Given the description of an element on the screen output the (x, y) to click on. 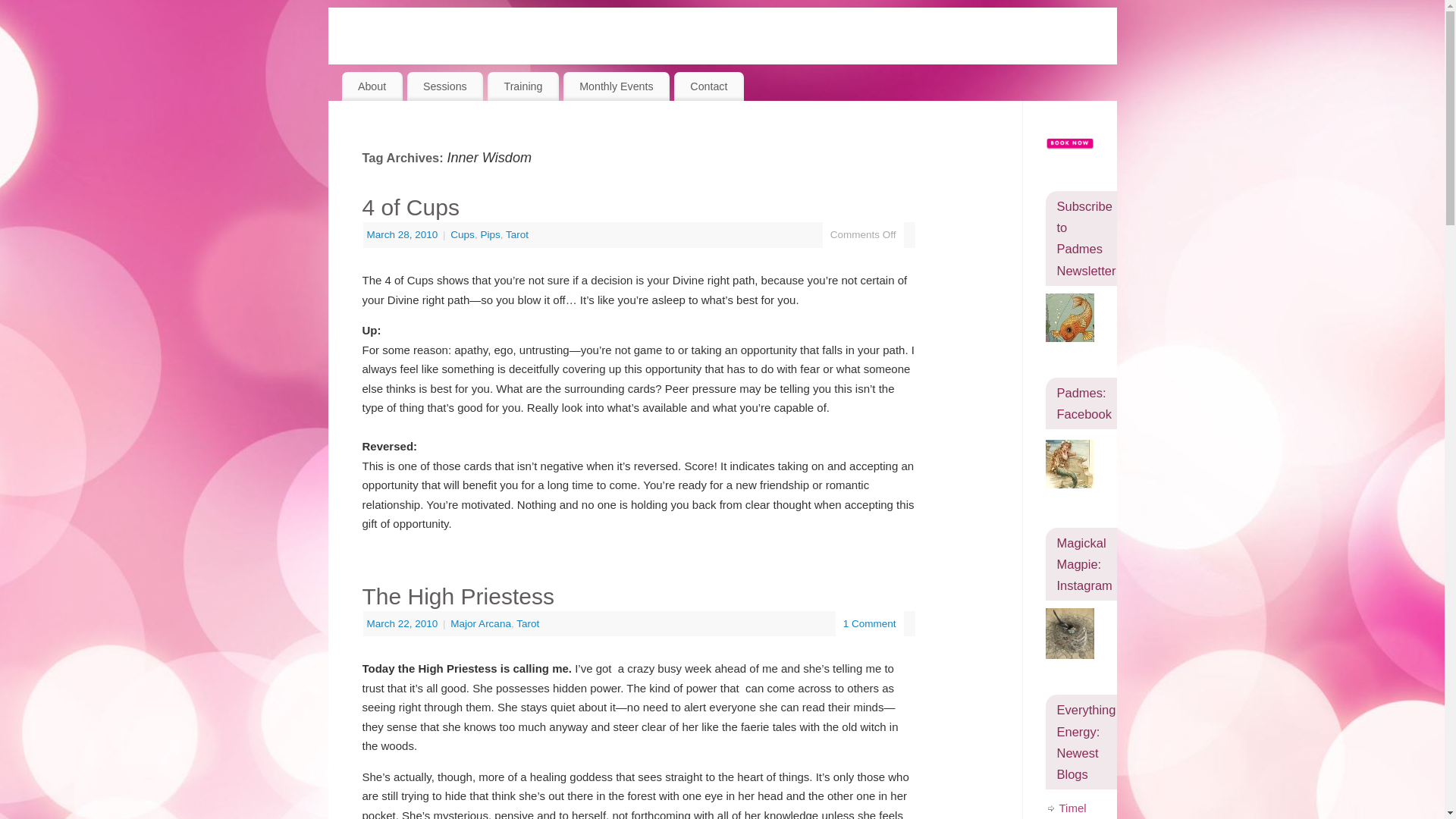
Cups (461, 234)
Tarot (516, 234)
Monthly Events (616, 86)
The High Priestess (458, 596)
2:40 pm (403, 623)
Facebook (1069, 463)
1 Comment (869, 623)
About (370, 86)
March 28, 2010 (403, 234)
Sessions (444, 86)
